Given the description of an element on the screen output the (x, y) to click on. 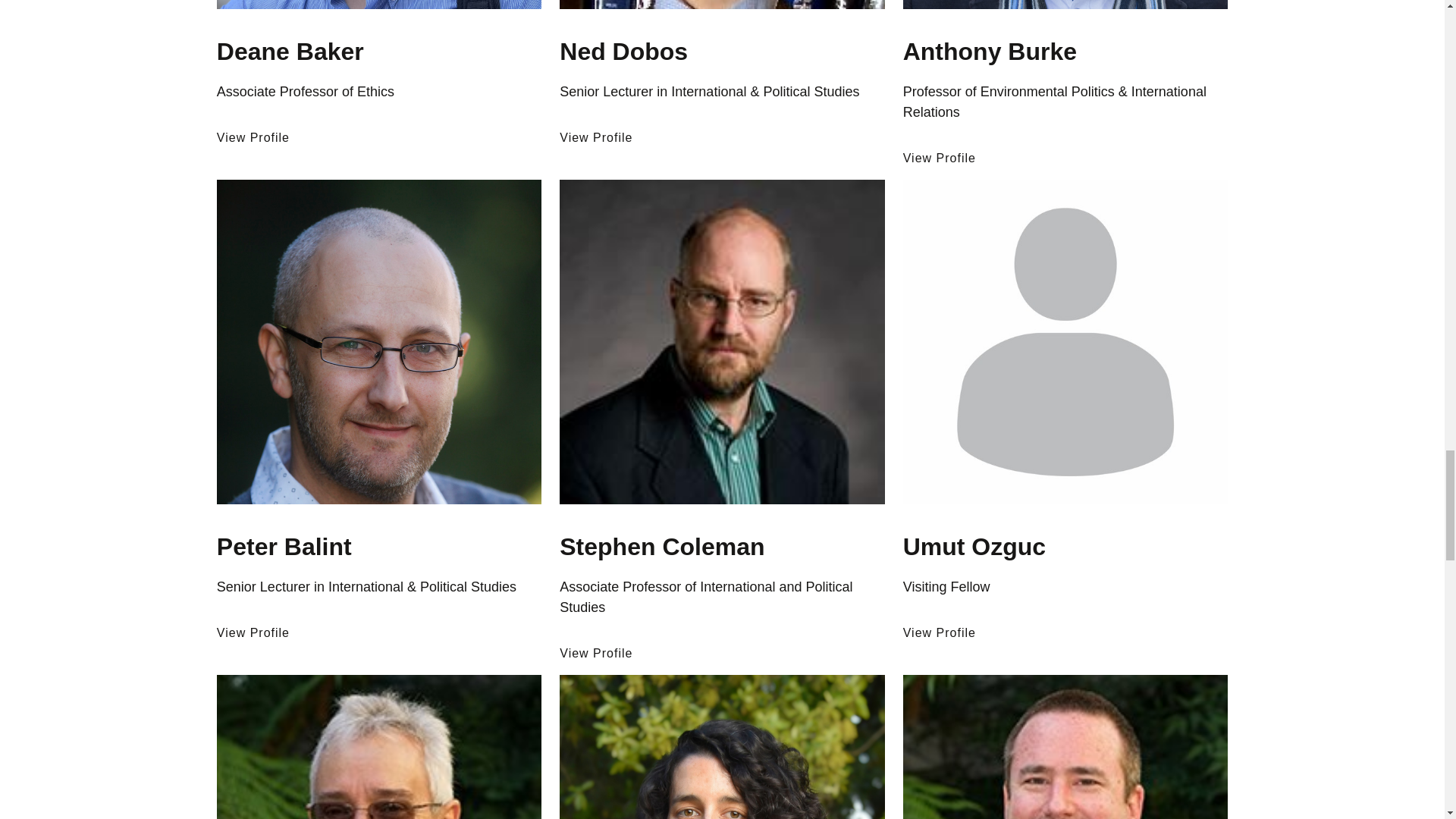
Blank avatar (1064, 341)
Professor John Dryzek (378, 746)
Dr Luke Glanville (1064, 746)
Aluma Kepten (721, 746)
